Given the description of an element on the screen output the (x, y) to click on. 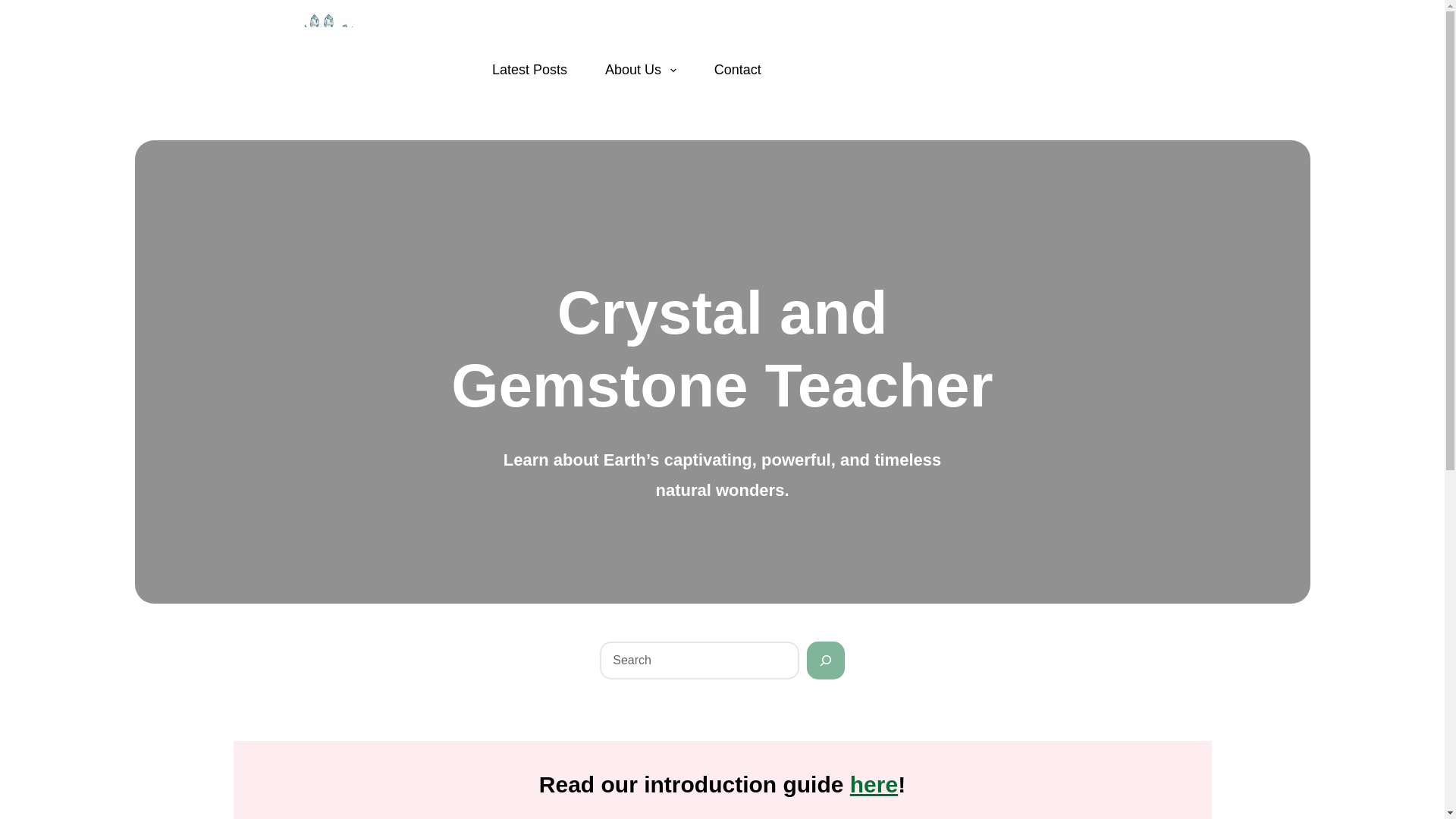
About Us (640, 70)
here (874, 784)
Skip to content (15, 7)
Contact (737, 70)
Latest Posts (529, 70)
